Given the description of an element on the screen output the (x, y) to click on. 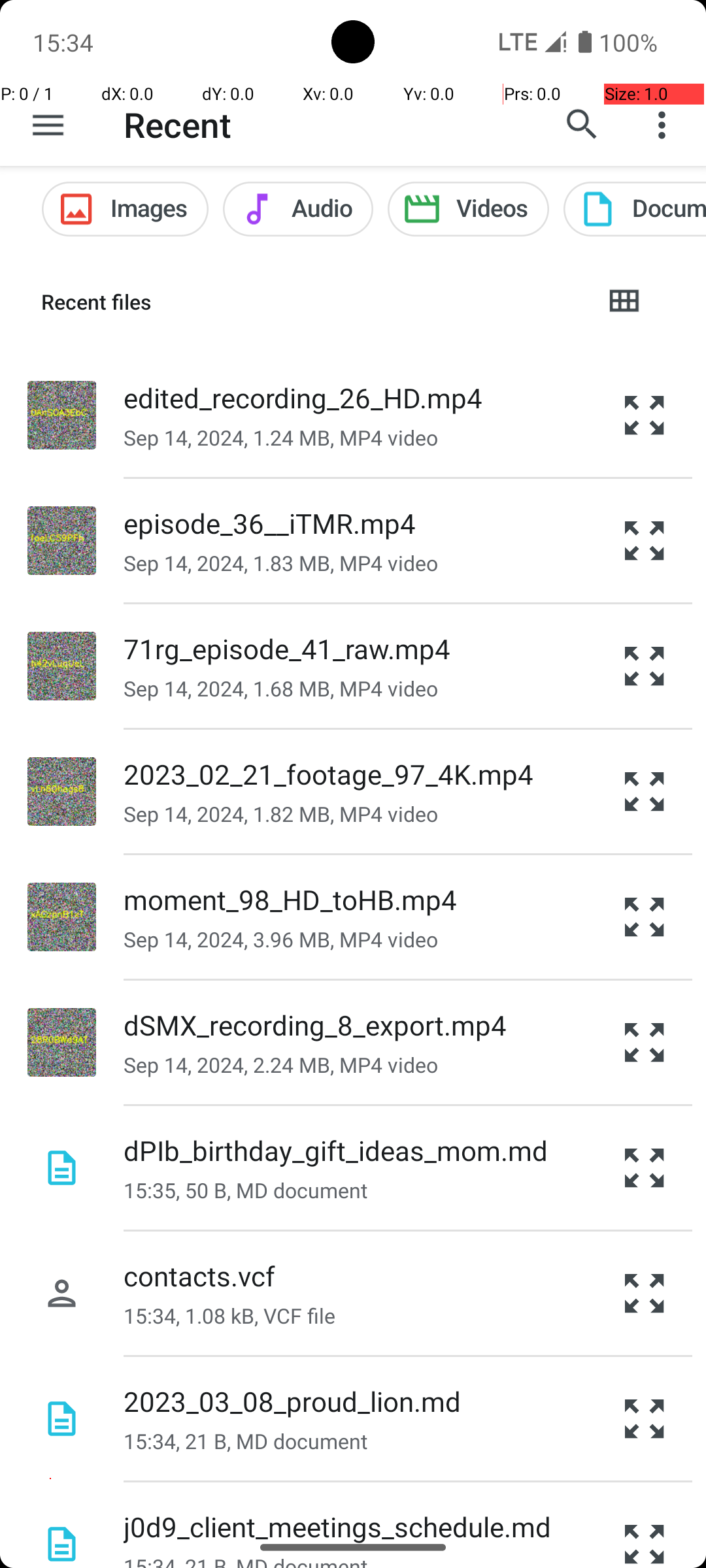
edited_recording_26_HD.mp4 Element type: android.widget.TextView (303, 397)
Sep 14, 2024, 1.24 MB, MP4 video Element type: android.widget.TextView (280, 437)
Preview the file edited_recording_26_HD.mp4 Element type: android.widget.FrameLayout (644, 414)
episode_36__iTMR.mp4 Element type: android.widget.TextView (269, 522)
Sep 14, 2024, 1.83 MB, MP4 video Element type: android.widget.TextView (280, 562)
Preview the file episode_36__iTMR.mp4 Element type: android.widget.FrameLayout (644, 540)
71rg_episode_41_raw.mp4 Element type: android.widget.TextView (287, 648)
Sep 14, 2024, 1.68 MB, MP4 video Element type: android.widget.TextView (280, 688)
Preview the file 71rg_episode_41_raw.mp4 Element type: android.widget.FrameLayout (644, 665)
2023_02_21_footage_97_4K.mp4 Element type: android.widget.TextView (328, 773)
Sep 14, 2024, 1.82 MB, MP4 video Element type: android.widget.TextView (280, 813)
Preview the file 2023_02_21_footage_97_4K.mp4 Element type: android.widget.FrameLayout (644, 791)
moment_98_HD_toHB.mp4 Element type: android.widget.TextView (289, 898)
Sep 14, 2024, 3.96 MB, MP4 video Element type: android.widget.TextView (280, 939)
Preview the file moment_98_HD_toHB.mp4 Element type: android.widget.FrameLayout (644, 916)
dSMX_recording_8_export.mp4 Element type: android.widget.TextView (314, 1024)
Sep 14, 2024, 2.24 MB, MP4 video Element type: android.widget.TextView (280, 1064)
Preview the file dSMX_recording_8_export.mp4 Element type: android.widget.FrameLayout (644, 1042)
dPIb_birthday_gift_ideas_mom.md Element type: android.widget.TextView (335, 1149)
15:35, 50 B, MD document Element type: android.widget.TextView (245, 1190)
Preview the file dPIb_birthday_gift_ideas_mom.md Element type: android.widget.FrameLayout (644, 1167)
contacts.vcf Element type: android.widget.TextView (199, 1275)
15:34, 1.08 kB, VCF file Element type: android.widget.TextView (229, 1315)
Preview the file contacts.vcf Element type: android.widget.FrameLayout (644, 1293)
2023_03_08_proud_lion.md Element type: android.widget.TextView (291, 1400)
15:34, 21 B, MD document Element type: android.widget.TextView (245, 1440)
Preview the file 2023_03_08_proud_lion.md Element type: android.widget.FrameLayout (644, 1418)
j0d9_client_meetings_schedule.md Element type: android.widget.TextView (337, 1526)
Preview the file j0d9_client_meetings_schedule.md Element type: android.widget.FrameLayout (644, 1525)
